Given the description of an element on the screen output the (x, y) to click on. 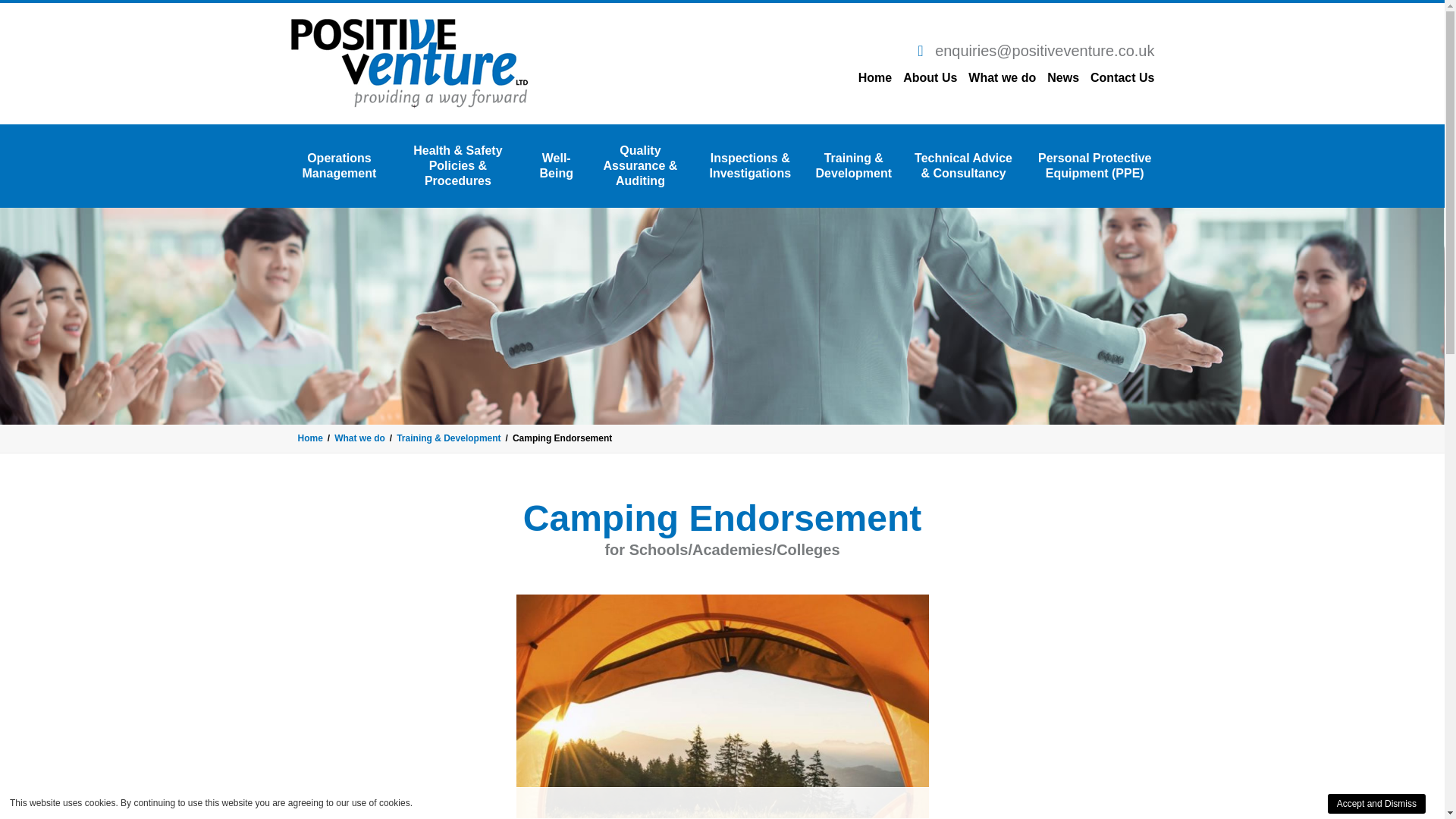
Home (875, 77)
Contact Us (1122, 77)
Well-Being (556, 165)
What we do (1001, 77)
Operations Management (338, 165)
Operations Management (338, 165)
Well-Being (556, 165)
About Us (929, 77)
Home (309, 438)
